Given the description of an element on the screen output the (x, y) to click on. 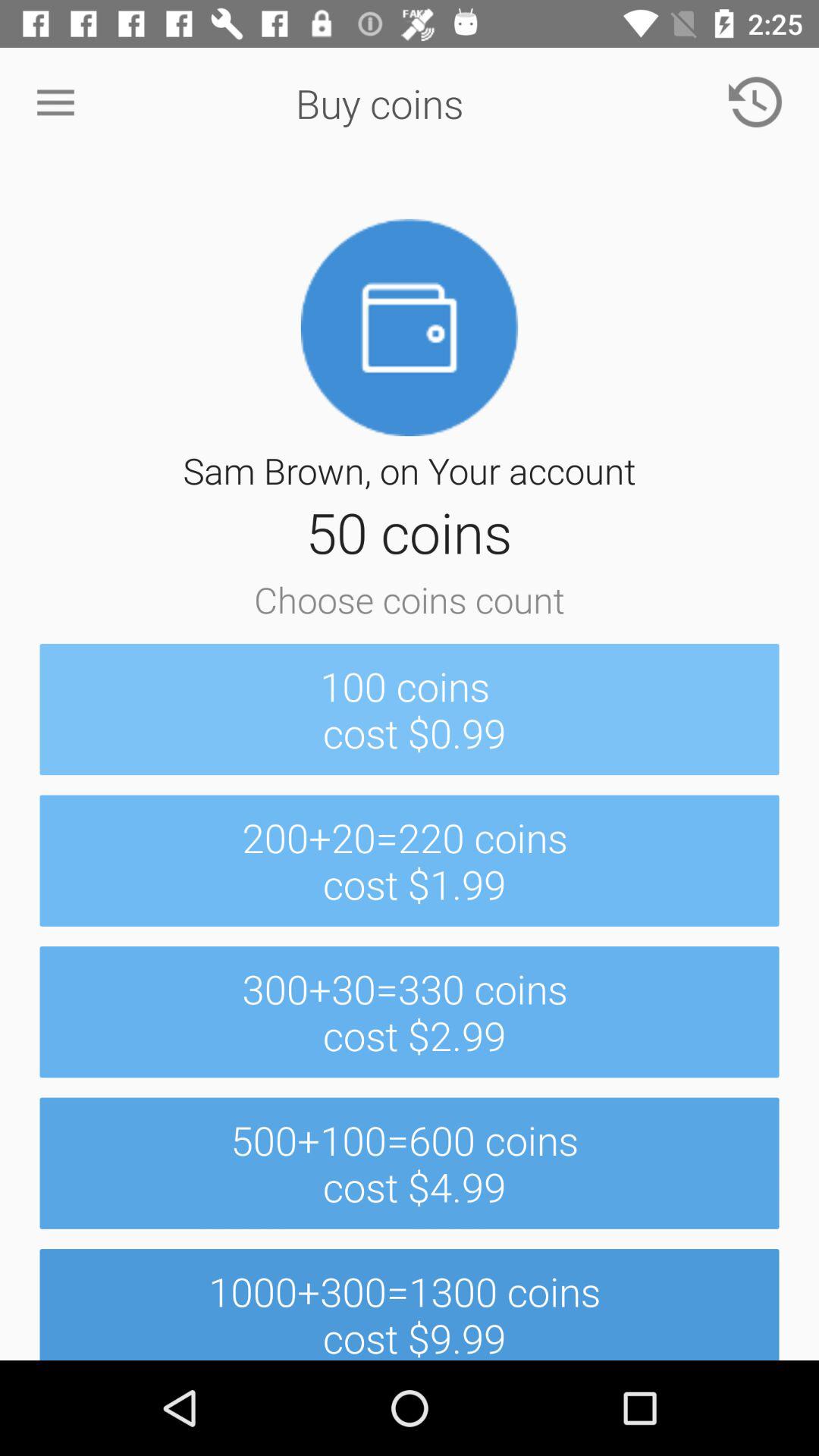
click 1000 300 1300 (409, 1304)
